Given the description of an element on the screen output the (x, y) to click on. 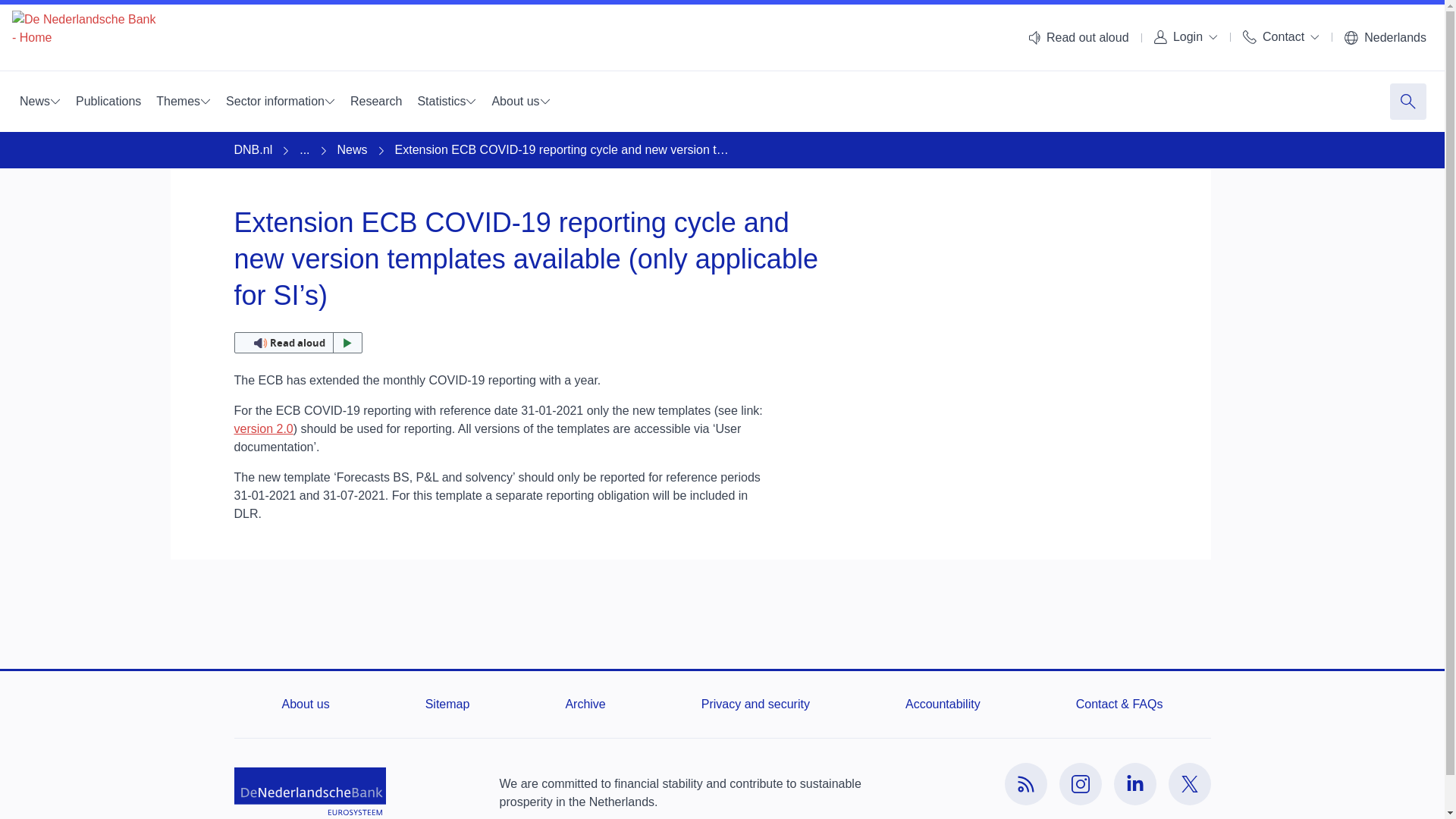
Nederlands (1385, 37)
Privacy and security (755, 704)
Login (1186, 36)
Accountability (942, 704)
Read out aloud (1078, 37)
Visit our Linkedin profile (1134, 783)
Visit our Instagram profile (1079, 783)
News (39, 101)
Contact (1280, 36)
De Nederlandsche Bank - Home (83, 37)
Archive (584, 704)
version 2.0 (262, 428)
Visit our RSS-Feed (1025, 783)
About us (306, 704)
